Given the description of an element on the screen output the (x, y) to click on. 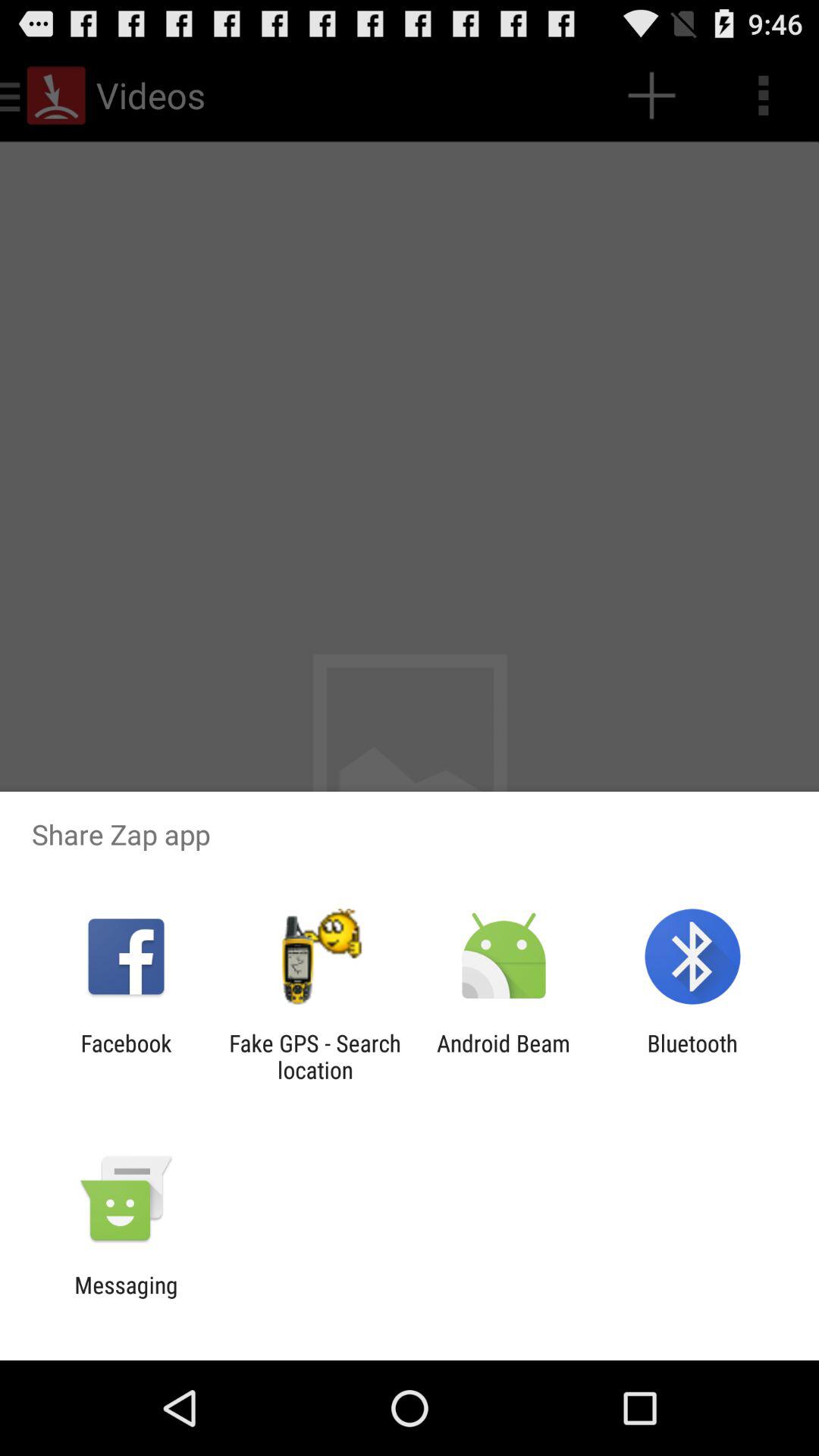
launch the item to the left of the bluetooth (503, 1056)
